Given the description of an element on the screen output the (x, y) to click on. 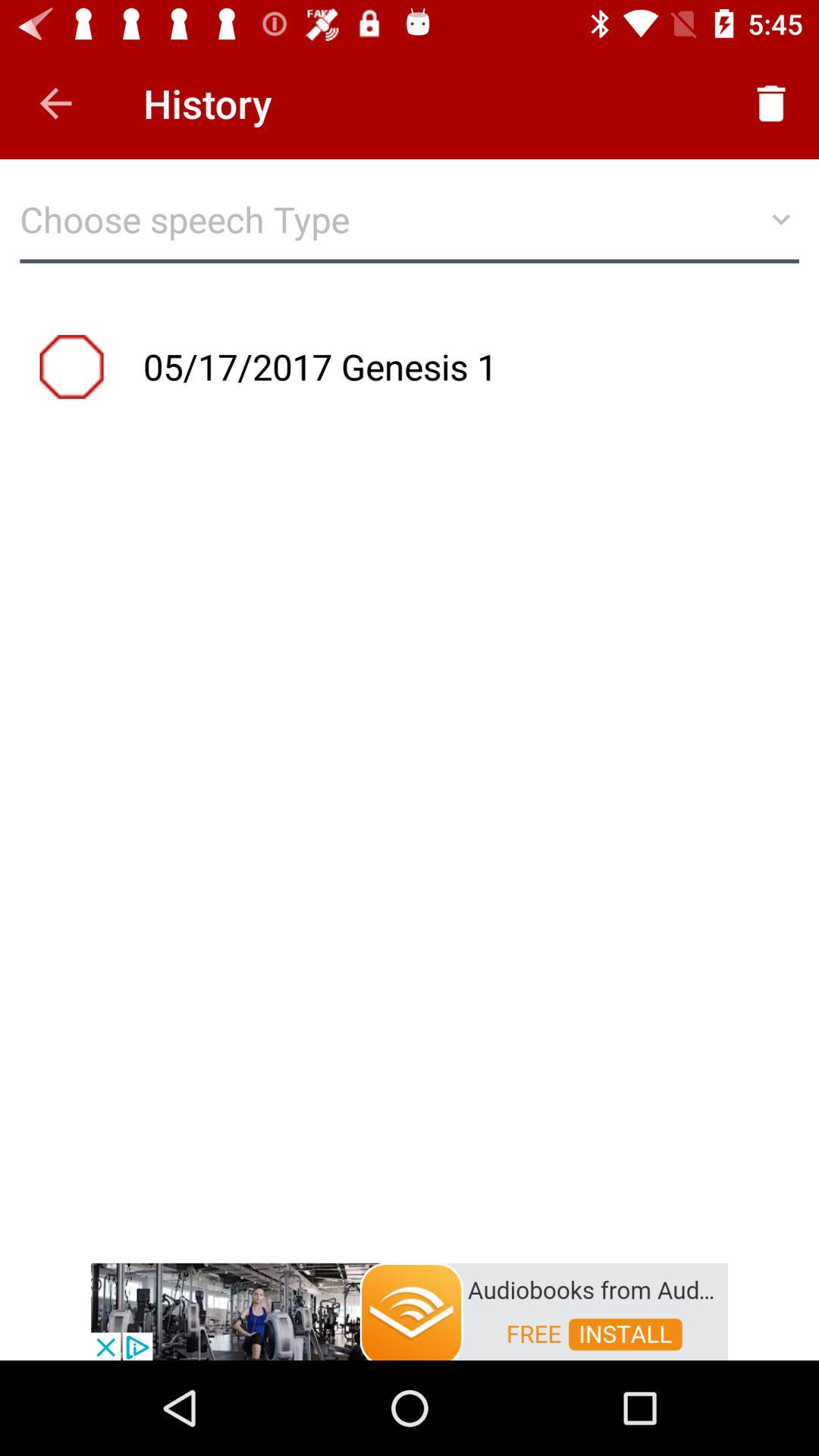
go to previous page (55, 103)
